Given the description of an element on the screen output the (x, y) to click on. 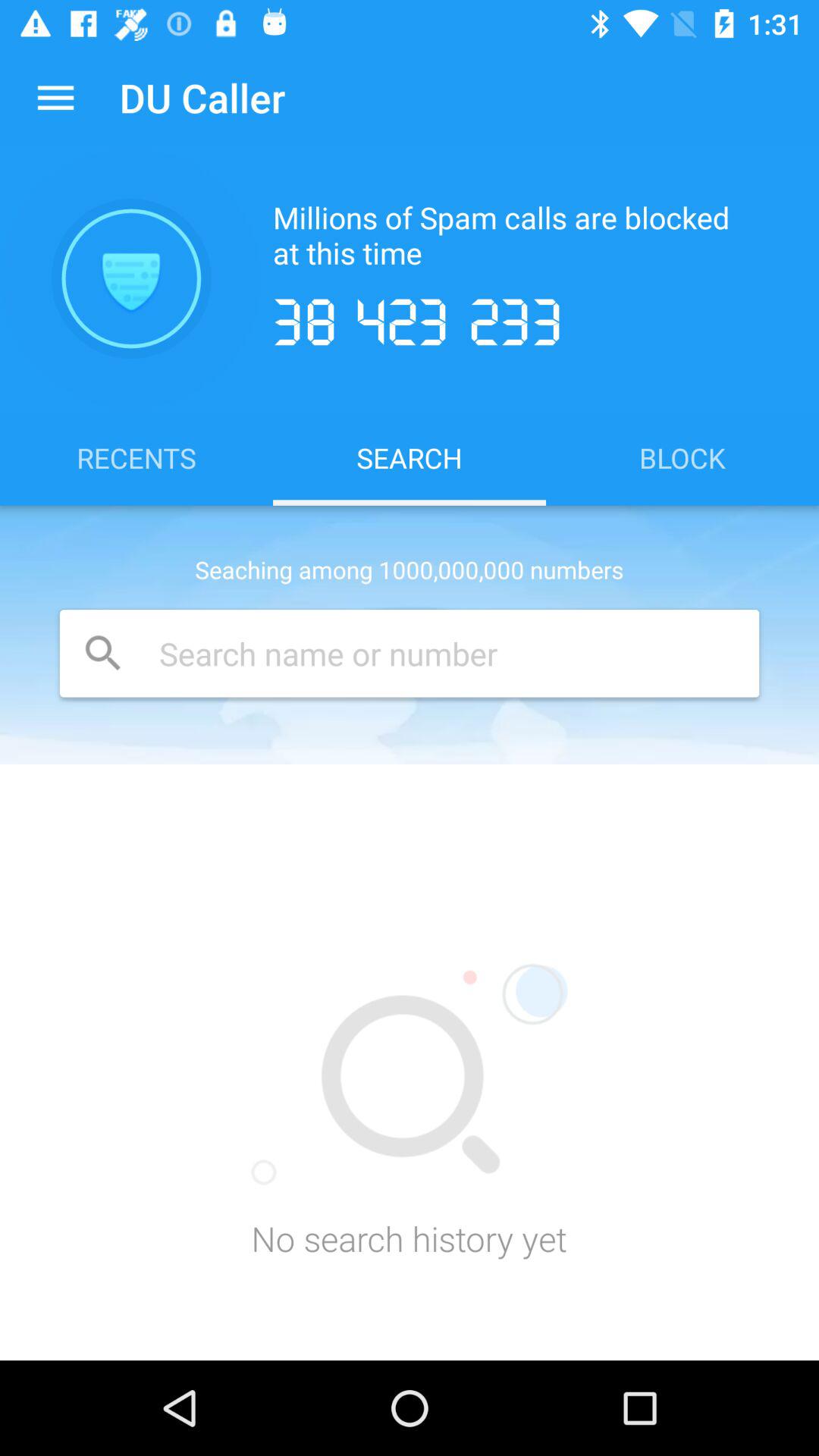
open the icon to the left of millions of spam item (131, 278)
